Given the description of an element on the screen output the (x, y) to click on. 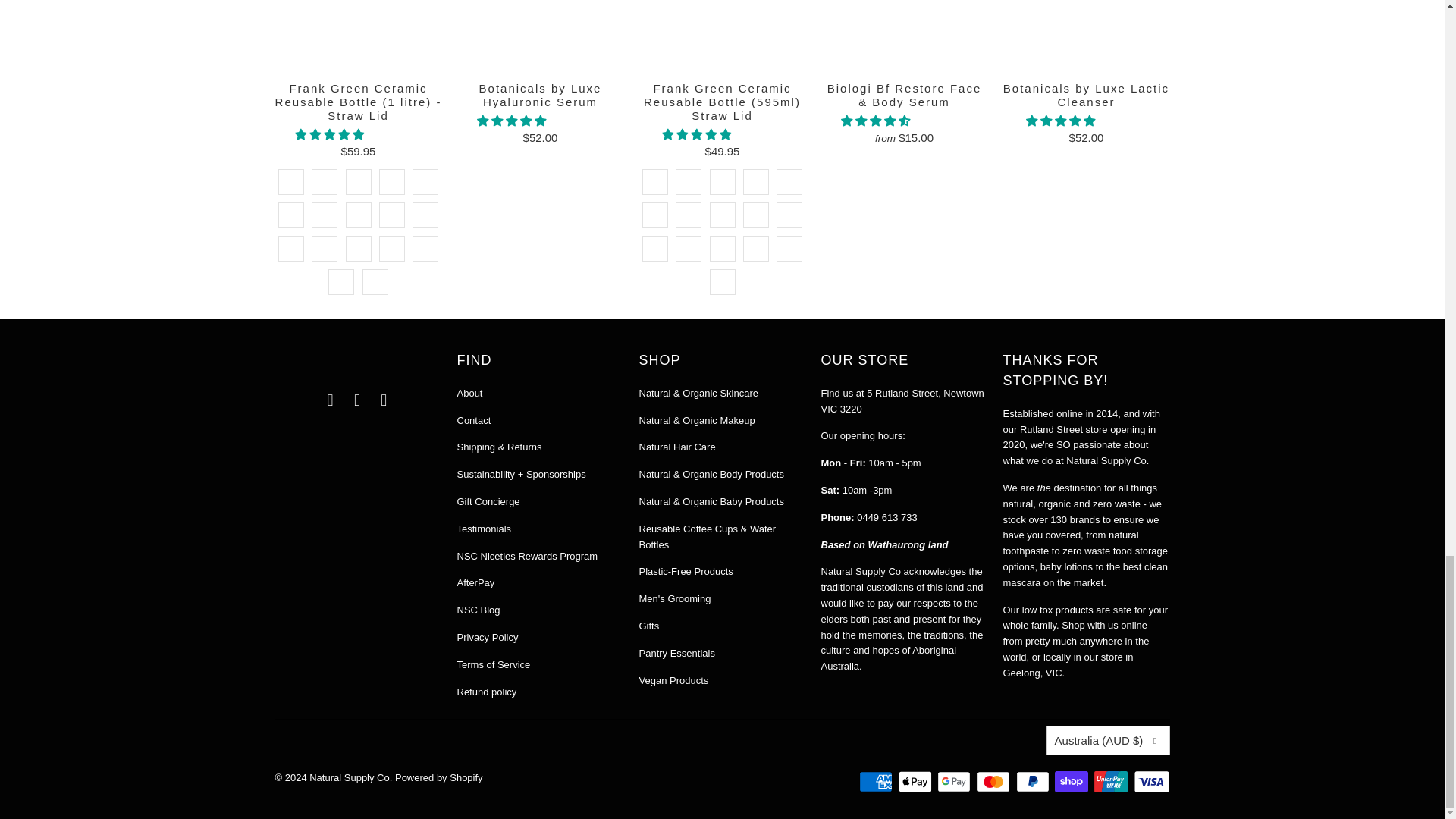
Natural Supply Co on Instagram (357, 400)
Mastercard (994, 781)
Google Pay (955, 781)
Union Pay (1112, 781)
Visa (1150, 781)
American Express (877, 781)
PayPal (1034, 781)
Shop Pay (1072, 781)
Apple Pay (916, 781)
Natural Supply Co on Facebook (330, 400)
